Given the description of an element on the screen output the (x, y) to click on. 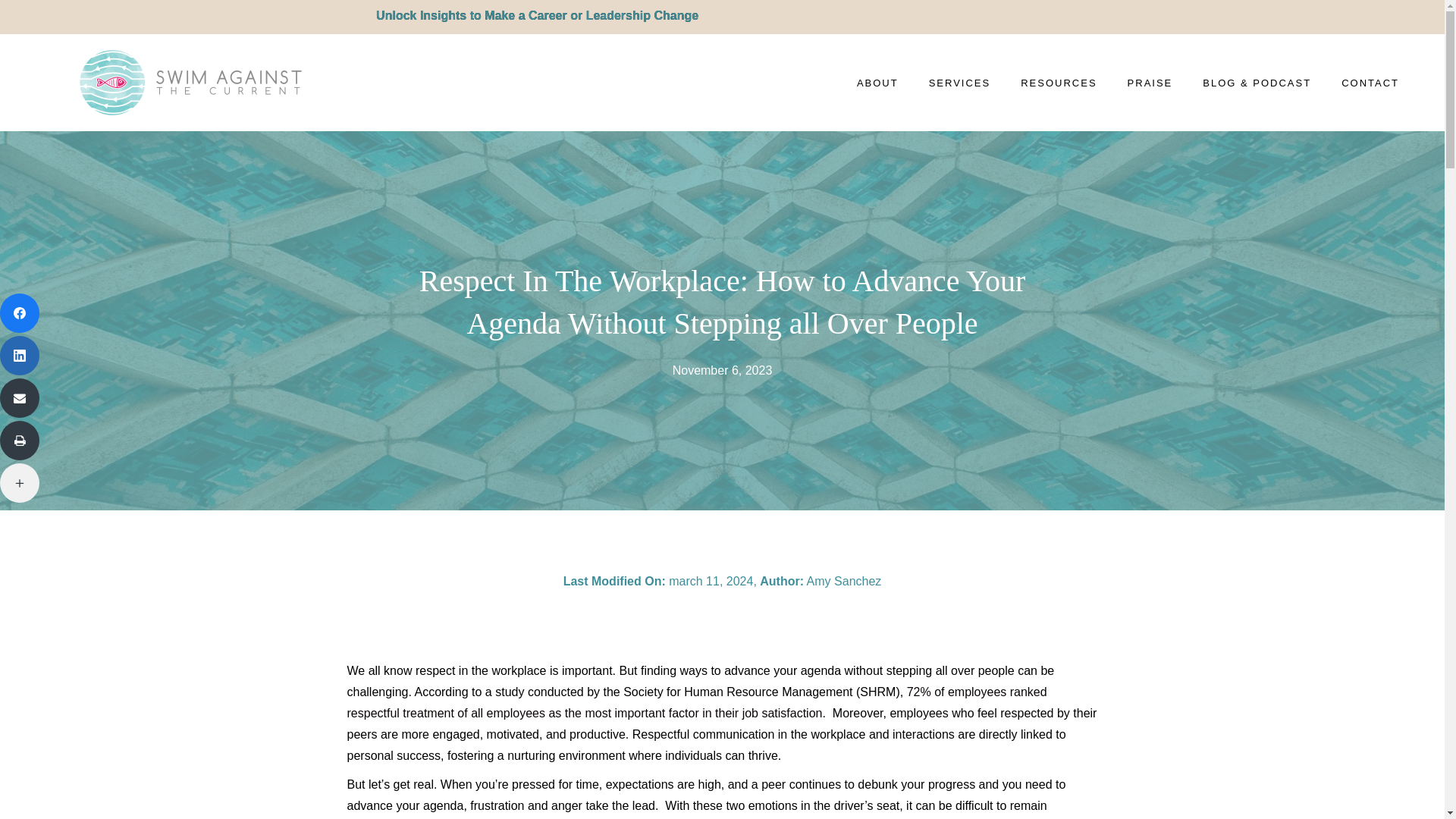
CONTACT (1370, 82)
Amy Sanchez (844, 581)
Unlock Insights to Make a Career or Leadership Change (288, 15)
RESOURCES (1058, 82)
SERVICES (960, 82)
ABOUT (877, 82)
PRAISE (1150, 82)
